Given the description of an element on the screen output the (x, y) to click on. 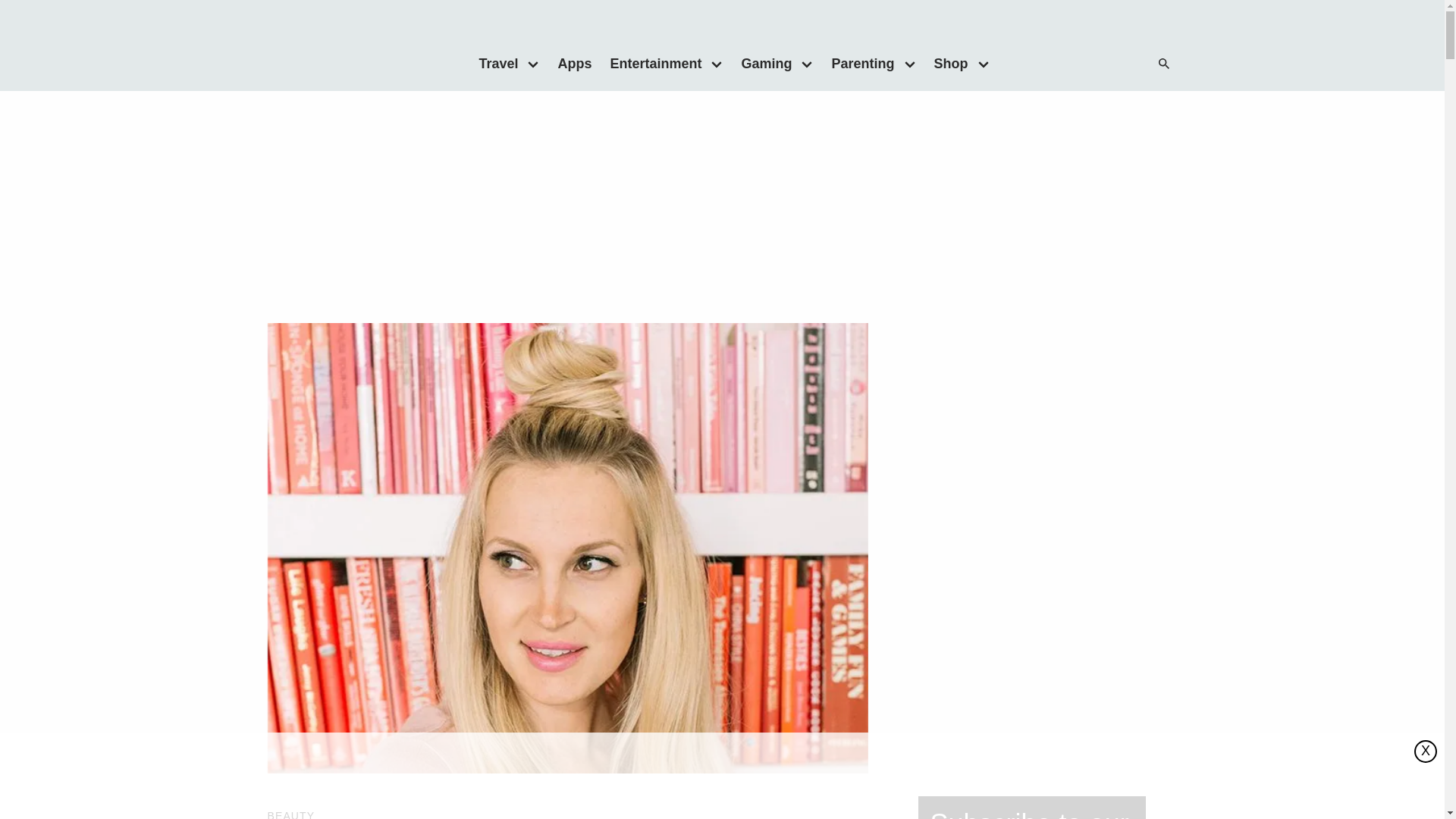
Apps (573, 63)
Open menu (533, 63)
Facebook (1048, 63)
Open menu (982, 63)
Open menu (909, 63)
Parenting (857, 63)
Open menu (807, 63)
BEAUTY (290, 814)
Gaming (762, 63)
Twitter (1079, 63)
